Given the description of an element on the screen output the (x, y) to click on. 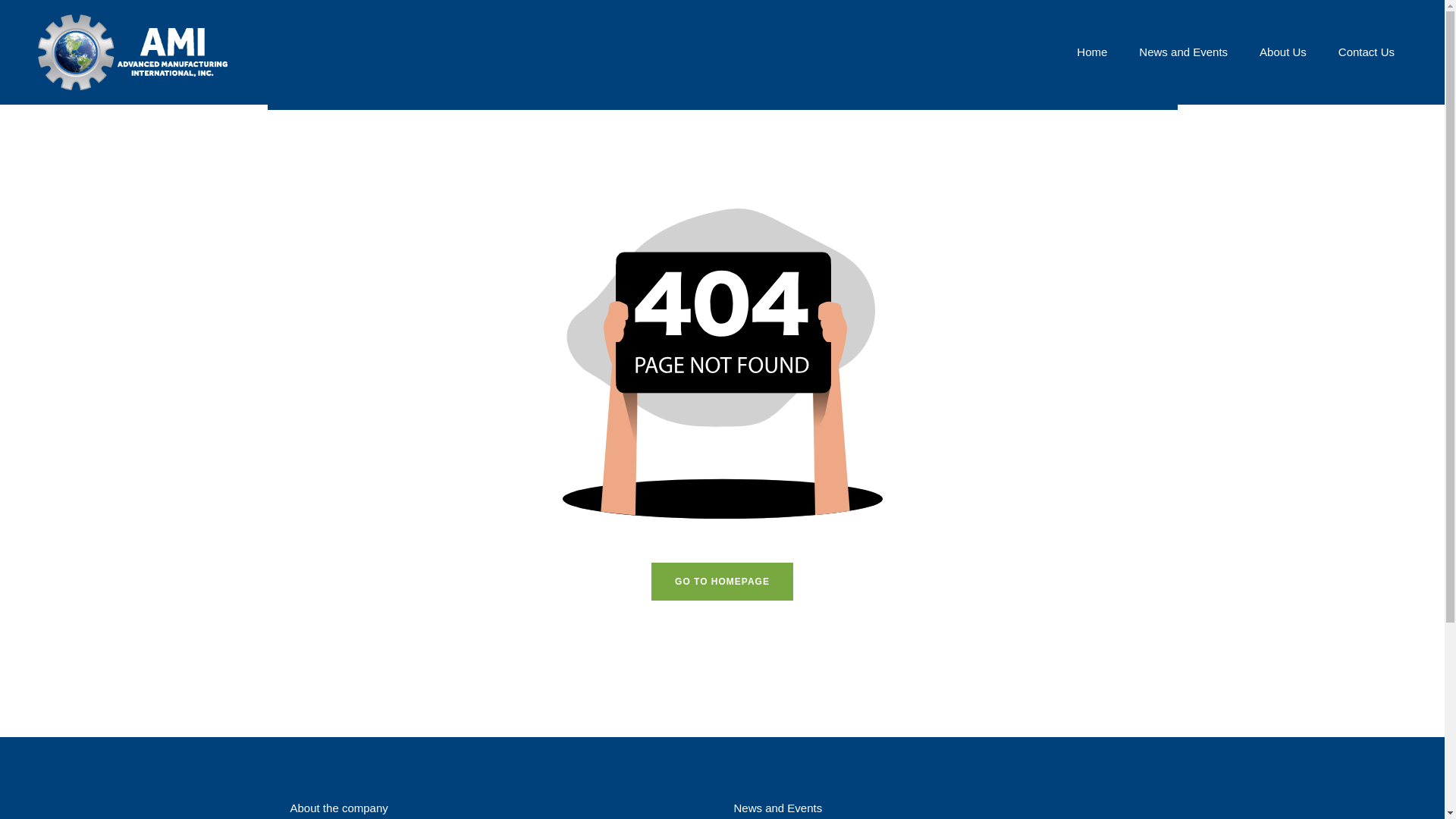
Contact Us (1366, 51)
About Us (1283, 51)
News and Events (1183, 51)
